Given the description of an element on the screen output the (x, y) to click on. 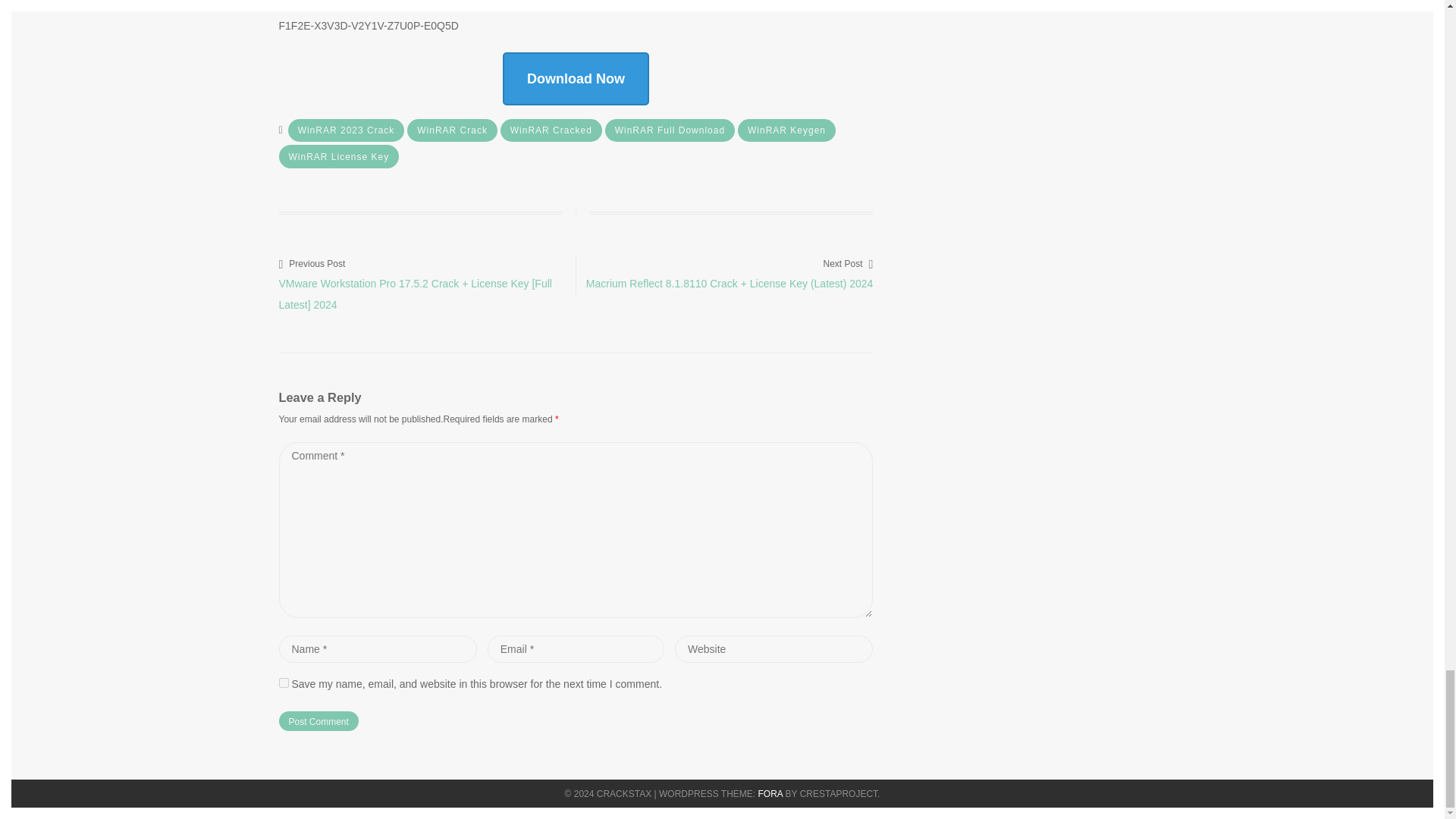
yes (283, 682)
Post Comment (318, 721)
Download Now (575, 78)
